Given the description of an element on the screen output the (x, y) to click on. 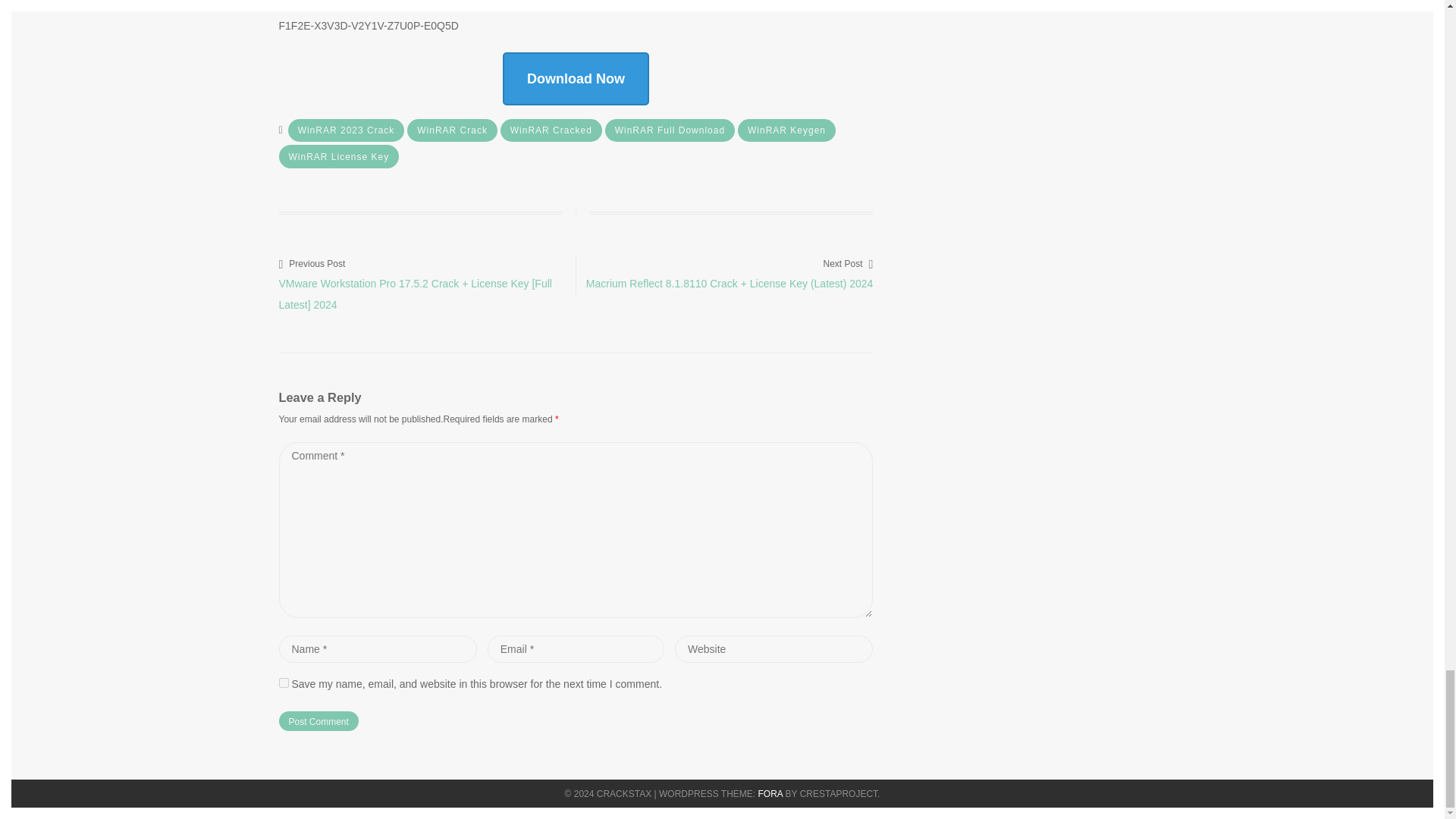
yes (283, 682)
Post Comment (318, 721)
Download Now (575, 78)
